Given the description of an element on the screen output the (x, y) to click on. 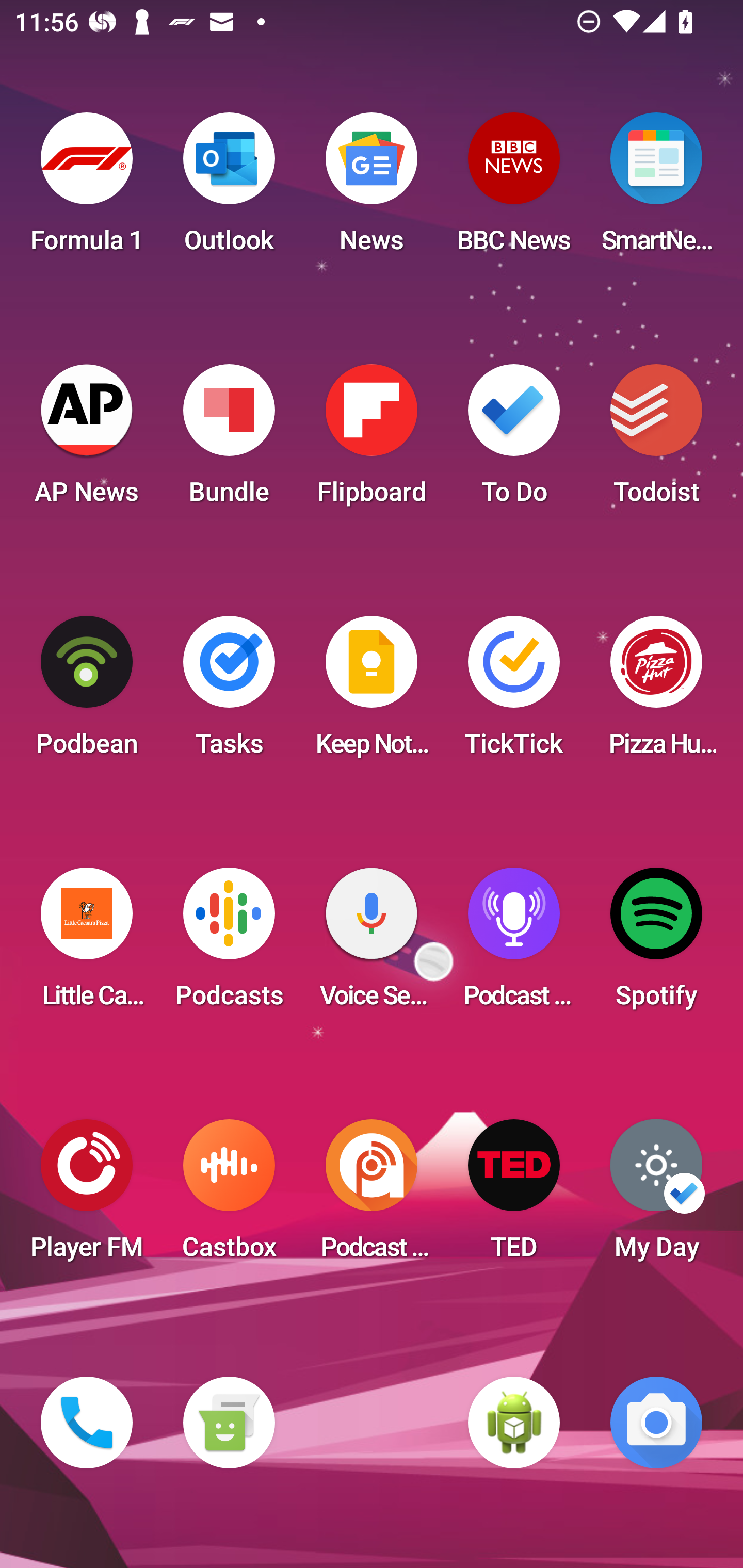
Formula 1 (86, 188)
Outlook (228, 188)
News (371, 188)
BBC News (513, 188)
SmartNews (656, 188)
AP News (86, 440)
Bundle (228, 440)
Flipboard (371, 440)
To Do (513, 440)
Todoist (656, 440)
Podbean (86, 692)
Tasks (228, 692)
Keep Notes (371, 692)
TickTick (513, 692)
Pizza Hut HK & Macau (656, 692)
Little Caesars Pizza (86, 943)
Podcasts (228, 943)
Voice Search (371, 943)
Podcast Player (513, 943)
Spotify (656, 943)
Player FM (86, 1195)
Castbox (228, 1195)
Podcast Addict (371, 1195)
TED (513, 1195)
My Day (656, 1195)
Phone (86, 1422)
Messaging (228, 1422)
WebView Browser Tester (513, 1422)
Camera (656, 1422)
